Given the description of an element on the screen output the (x, y) to click on. 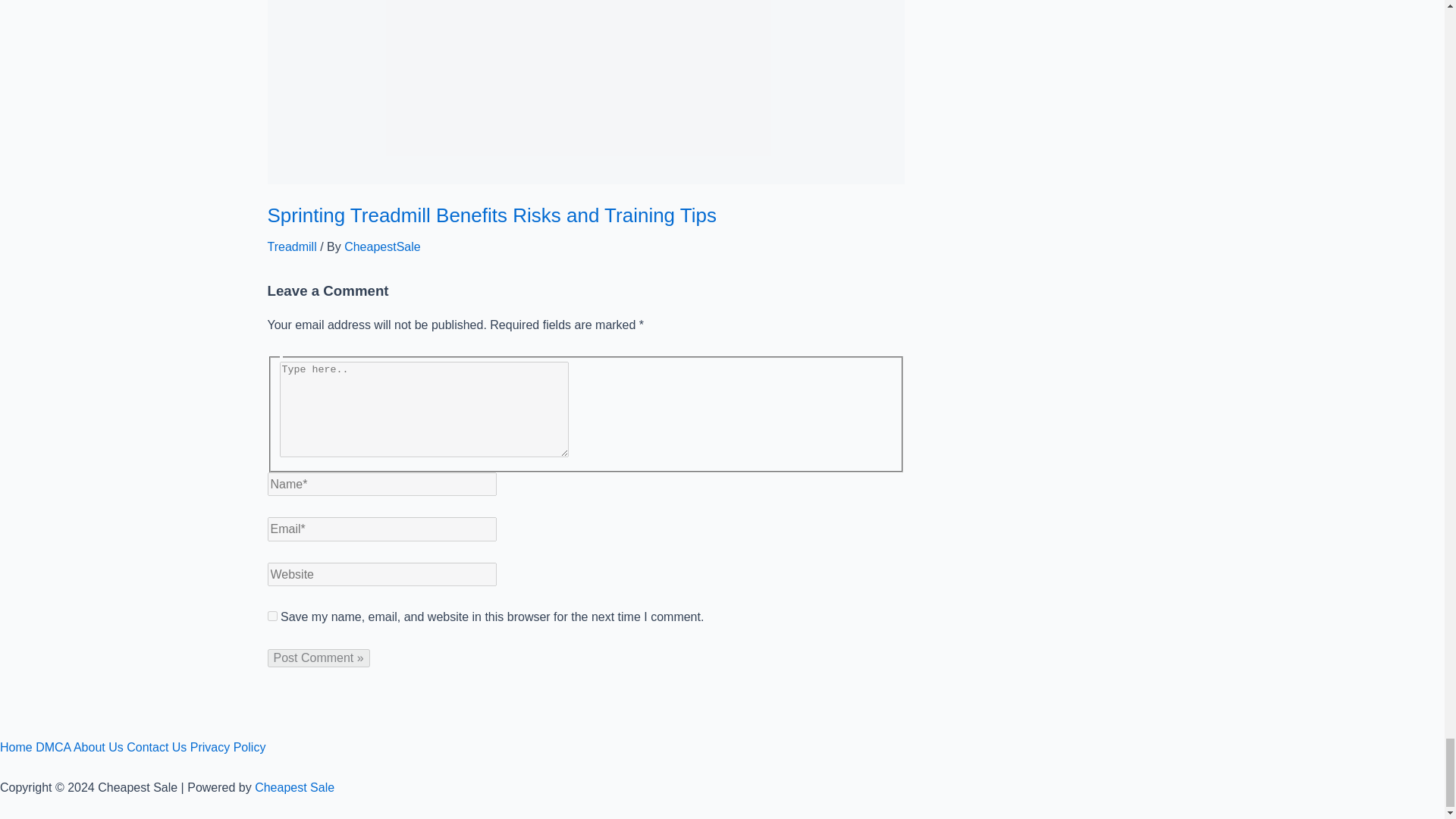
yes (271, 615)
